Given the description of an element on the screen output the (x, y) to click on. 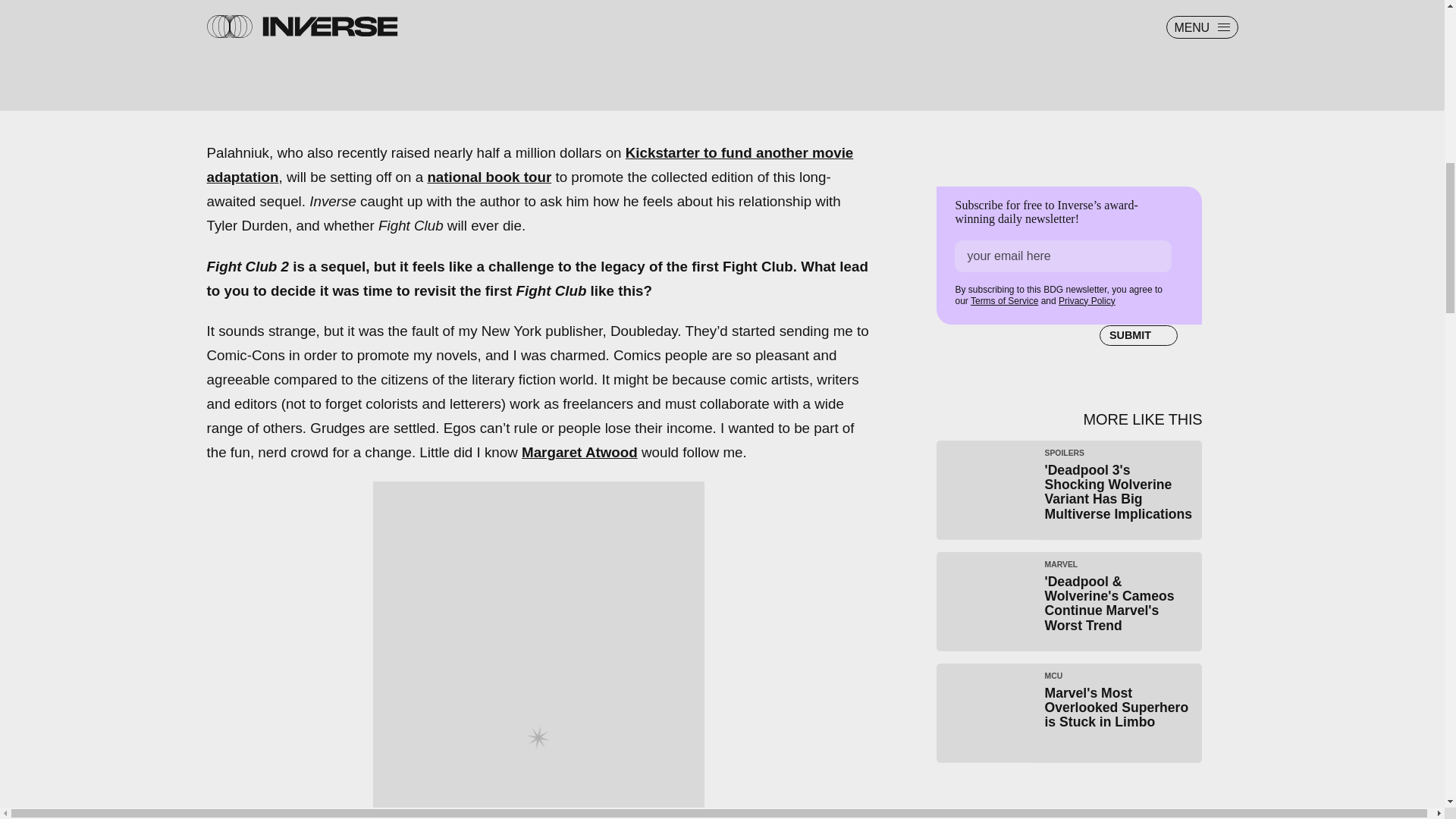
SUBMIT (1138, 333)
Margaret Atwood (579, 452)
Kickstarter to fund another movie adaptation (529, 164)
Terms of Service (1004, 299)
national book tour (1069, 712)
Privacy Policy (488, 176)
